Given the description of an element on the screen output the (x, y) to click on. 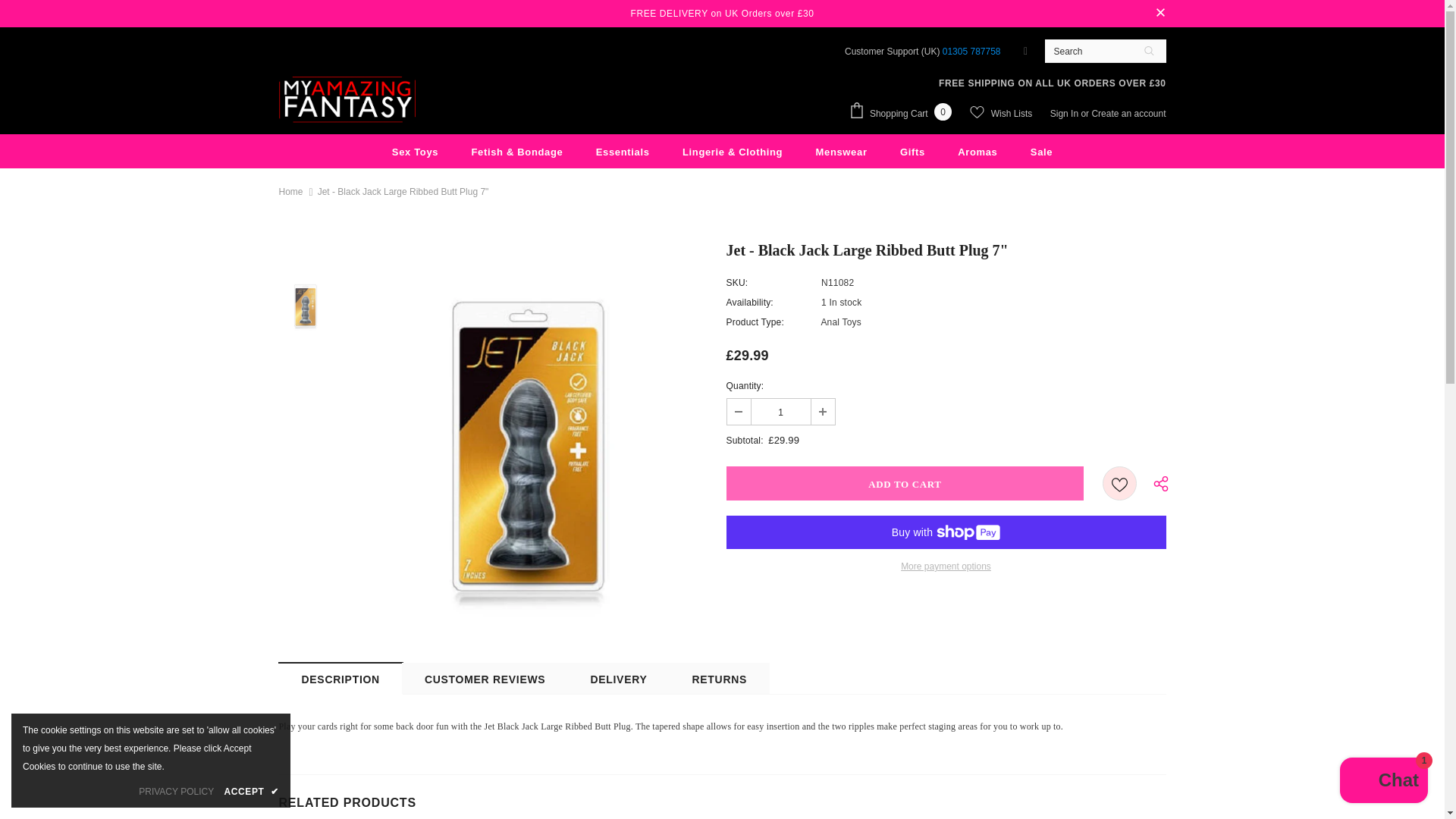
Cart (903, 112)
Shopping Cart 0 (903, 112)
01305 787758 (971, 50)
Sign In (1065, 113)
Logo (346, 99)
Add to cart (905, 483)
Sex Toys (414, 151)
Wish Lists (1000, 112)
close (1160, 13)
1 (780, 411)
Create an account (1128, 113)
My Wish Lists (1000, 112)
